Given the description of an element on the screen output the (x, y) to click on. 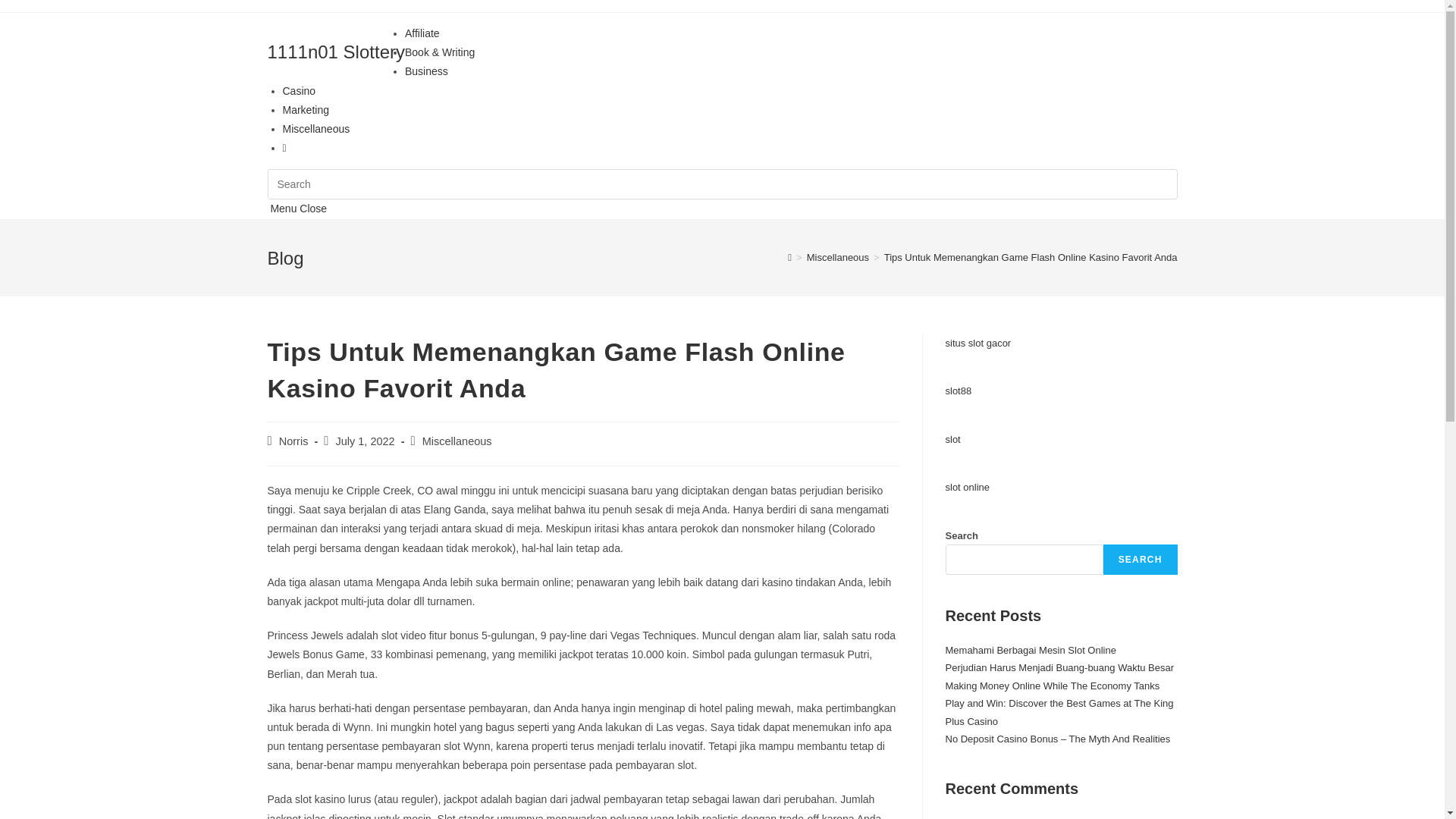
Toggle website search Element type: text (283, 147)
Menu Close Element type: text (296, 208)
Norris Element type: text (293, 441)
Memahami Berbagai Mesin Slot Online Element type: text (1029, 649)
Miscellaneous Element type: text (315, 128)
Tips Untuk Memenangkan Game Flash Online Kasino Favorit Anda Element type: text (1030, 257)
Affiliate Element type: text (421, 33)
Perjudian Harus Menjadi Buang-buang Waktu Besar Element type: text (1058, 667)
Book & Writing Element type: text (439, 52)
1111n01 Slottery Element type: text (335, 51)
Marketing Element type: text (305, 109)
slot online Element type: text (966, 486)
Miscellaneous Element type: text (457, 441)
SEARCH Element type: text (1140, 559)
Miscellaneous Element type: text (837, 257)
Casino Element type: text (298, 90)
Making Money Online While The Economy Tanks Element type: text (1051, 685)
situs slot gacor Element type: text (977, 342)
slot Element type: text (952, 439)
slot88 Element type: text (957, 390)
Business Element type: text (426, 71)
